Given the description of an element on the screen output the (x, y) to click on. 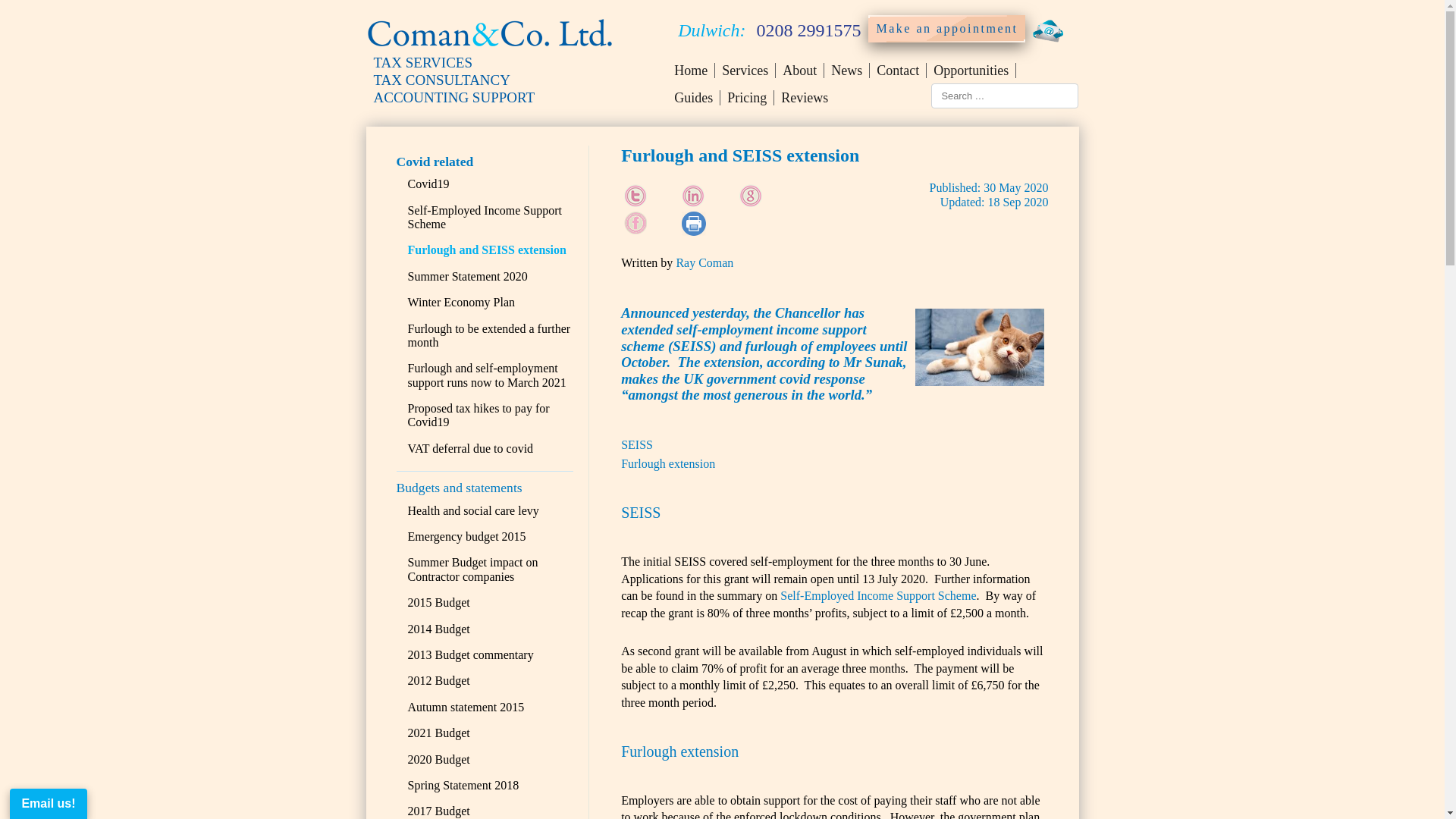
Furlough to be extended a further month (488, 335)
Autumn statement 2015 (465, 707)
Health and social care levy (472, 510)
Covid related (434, 160)
2013 Budget commentary (470, 654)
2014 Budget (438, 628)
Contact (897, 70)
Services (745, 70)
Emergency budget 2015 (466, 535)
Furlough and SEISS extension (486, 249)
